Given the description of an element on the screen output the (x, y) to click on. 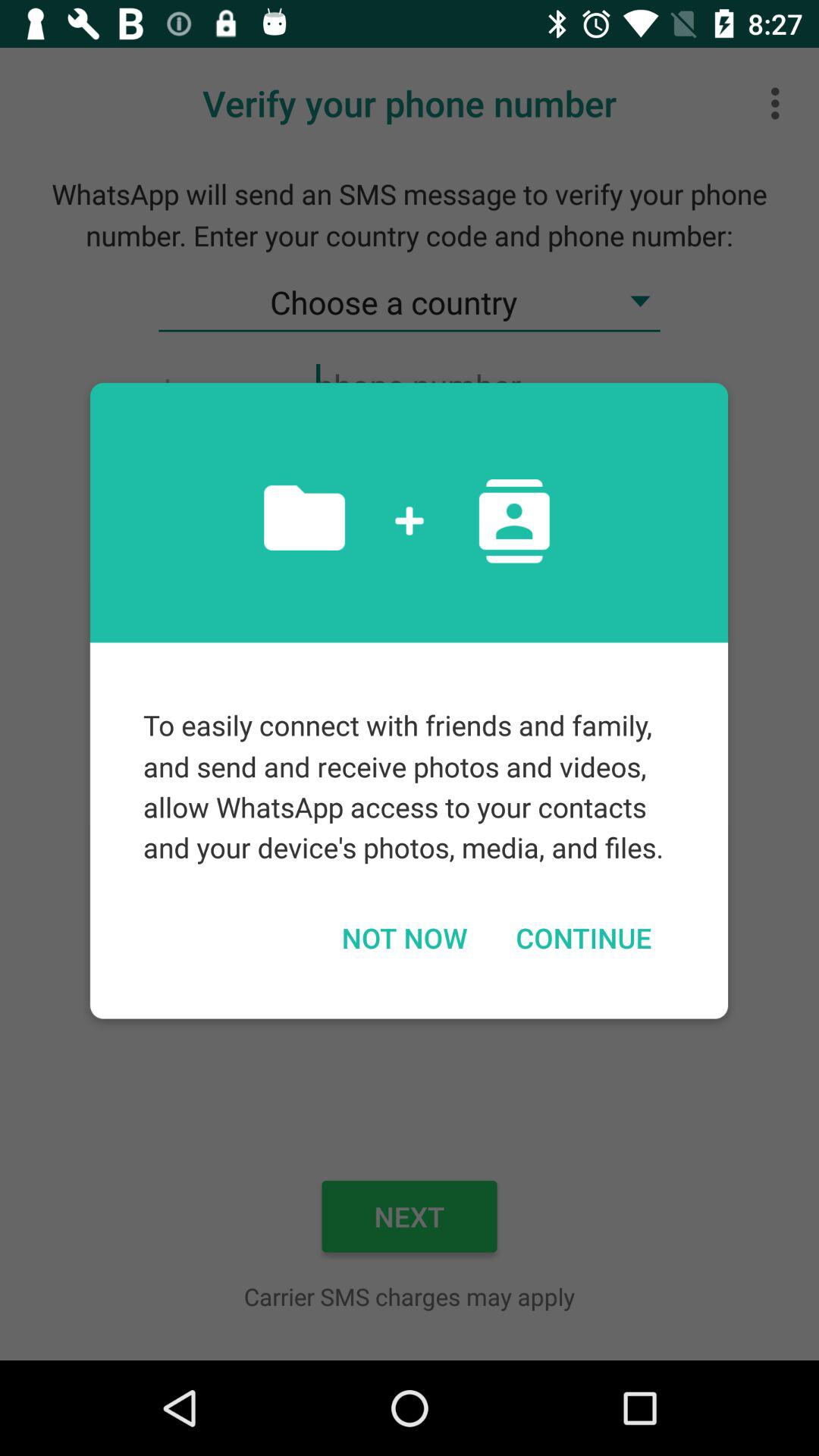
tap the icon below the to easily connect icon (403, 937)
